Given the description of an element on the screen output the (x, y) to click on. 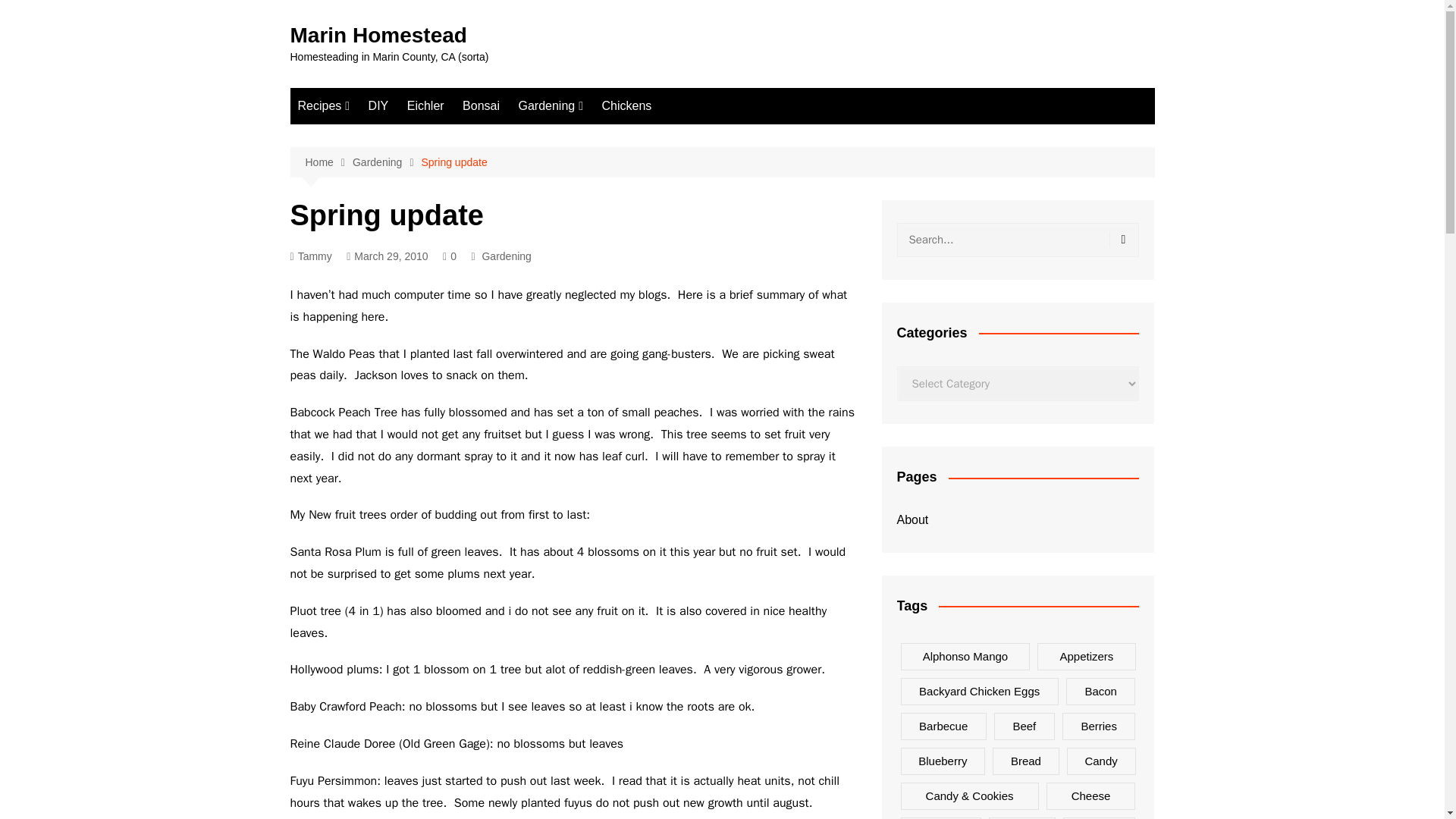
Spring update (454, 161)
Fruit Trees (594, 161)
Home (328, 162)
Marin Homestead (377, 34)
Gardening (506, 256)
Bonsai (480, 105)
Dessert (373, 136)
Gardening (551, 105)
Eichler (424, 105)
Tropical Fruit (594, 186)
